Given the description of an element on the screen output the (x, y) to click on. 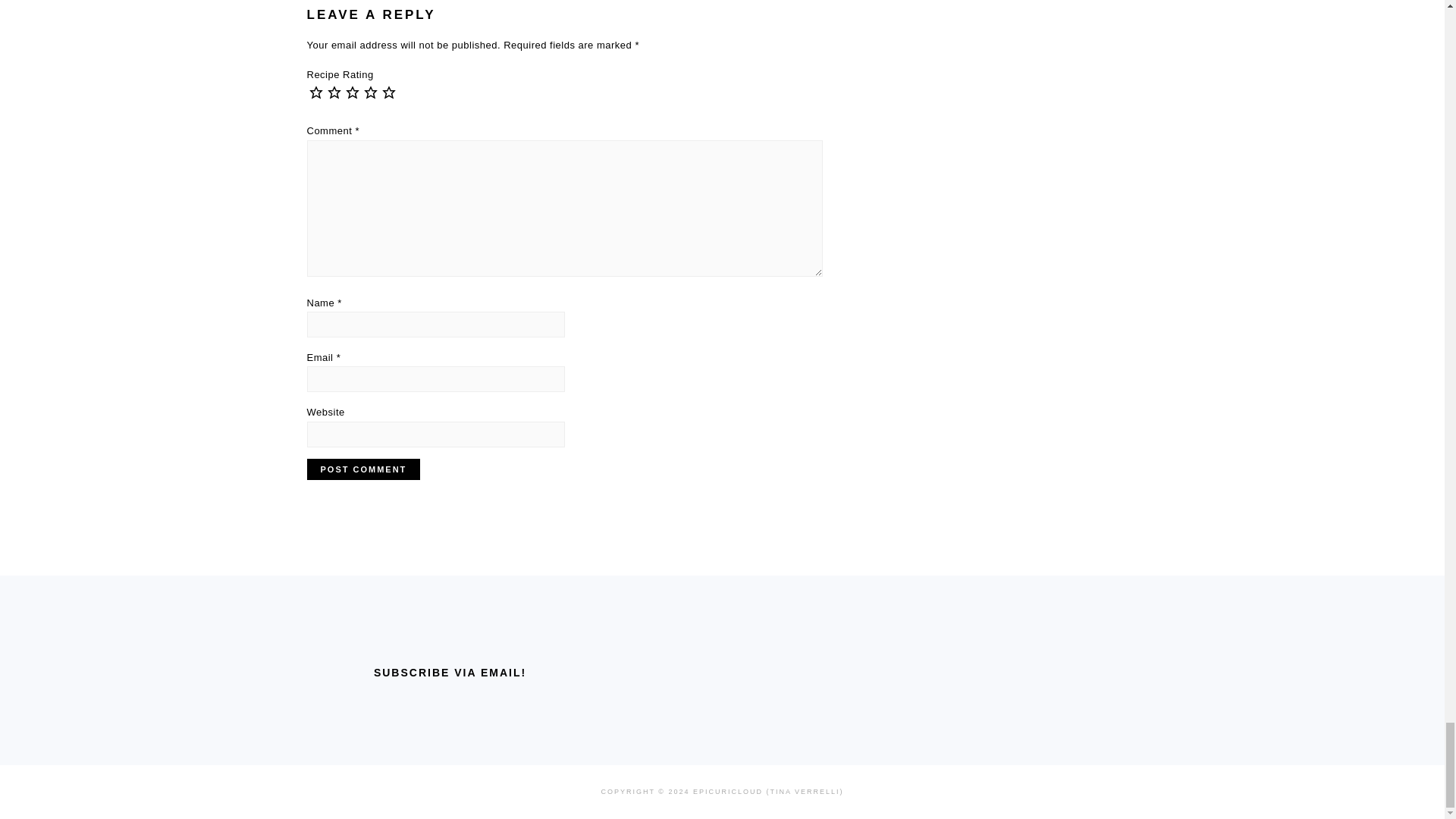
Post Comment (362, 468)
